Given the description of an element on the screen output the (x, y) to click on. 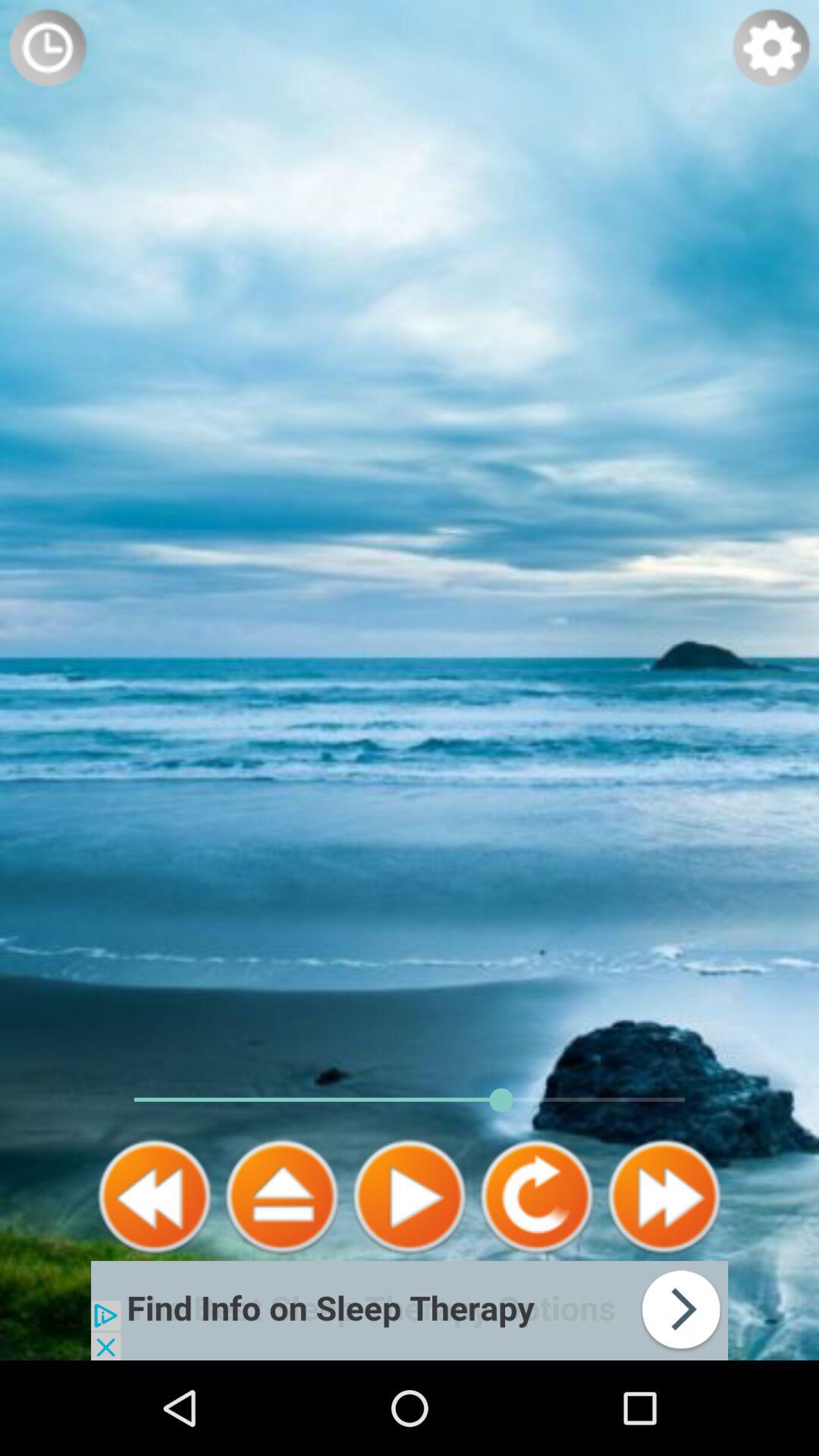
rewind the media (154, 1196)
